Given the description of an element on the screen output the (x, y) to click on. 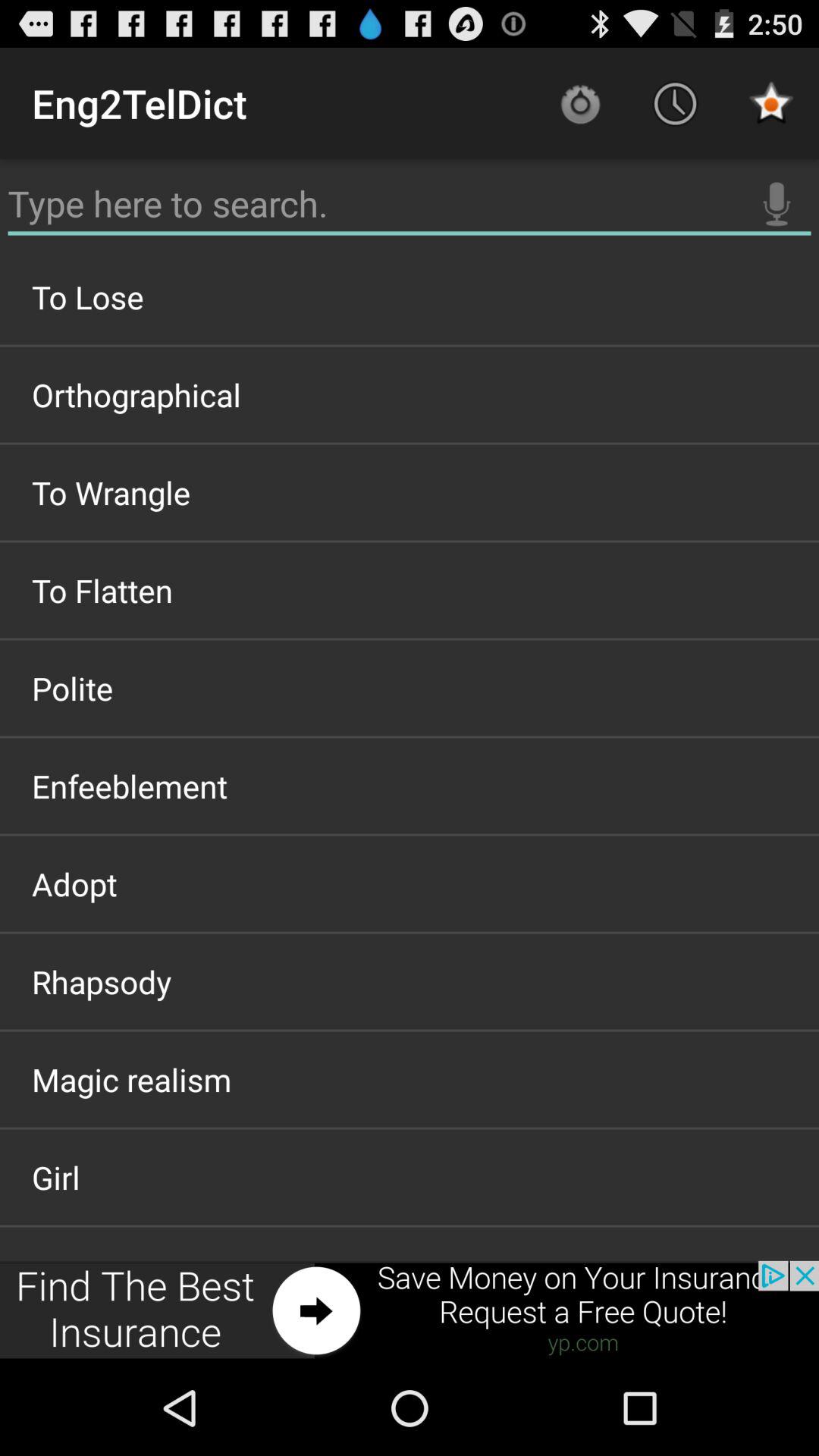
select item below to wrangle item (409, 590)
